Given the description of an element on the screen output the (x, y) to click on. 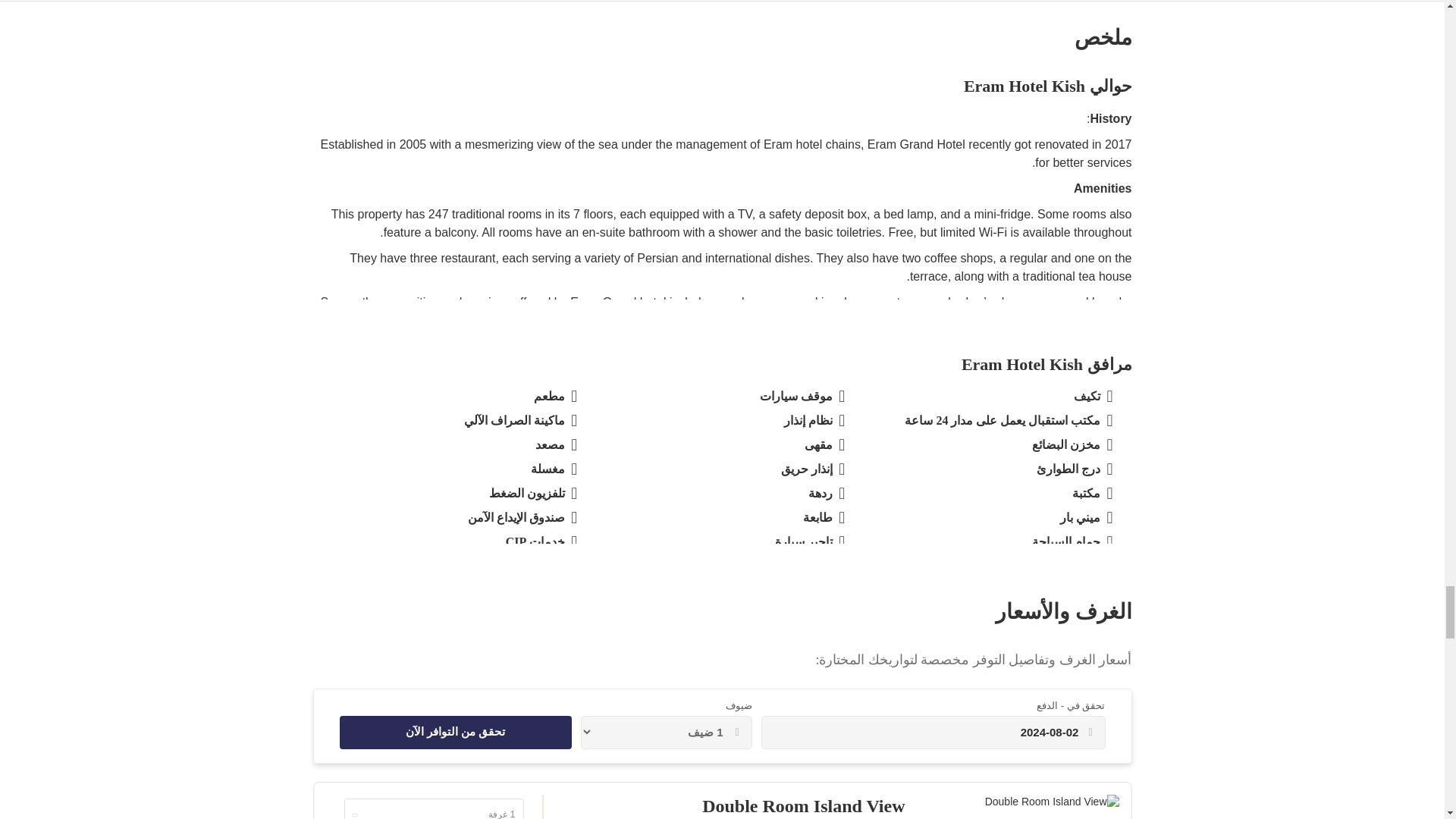
2024-08-02 (925, 732)
